Given the description of an element on the screen output the (x, y) to click on. 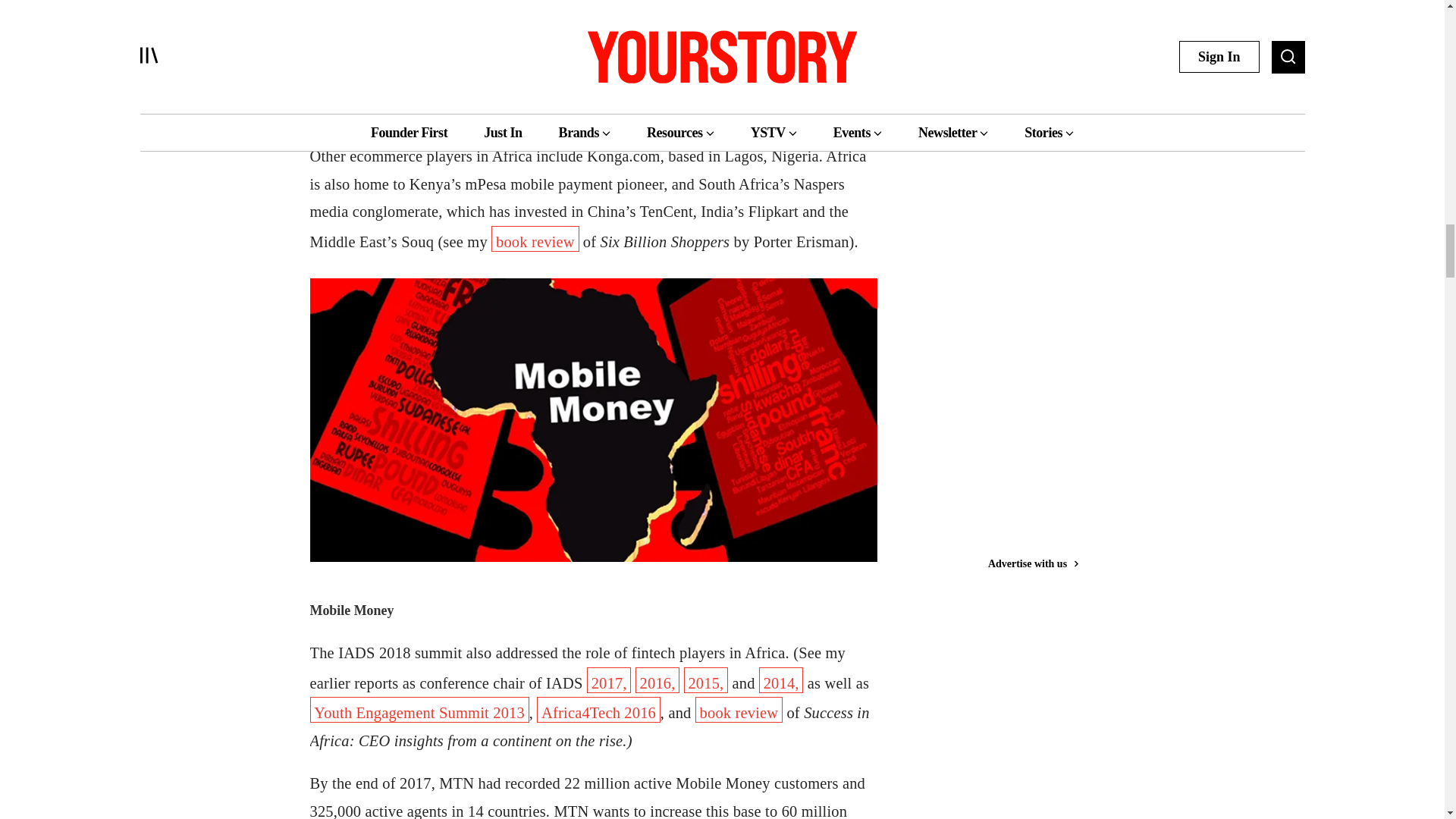
book review (535, 238)
Youth Engagement Summit 2013 (418, 709)
2017, (608, 679)
book review (739, 709)
2015, (706, 679)
Africa4Tech 2016 (599, 709)
2016, (656, 679)
2014, (780, 679)
